Given the description of an element on the screen output the (x, y) to click on. 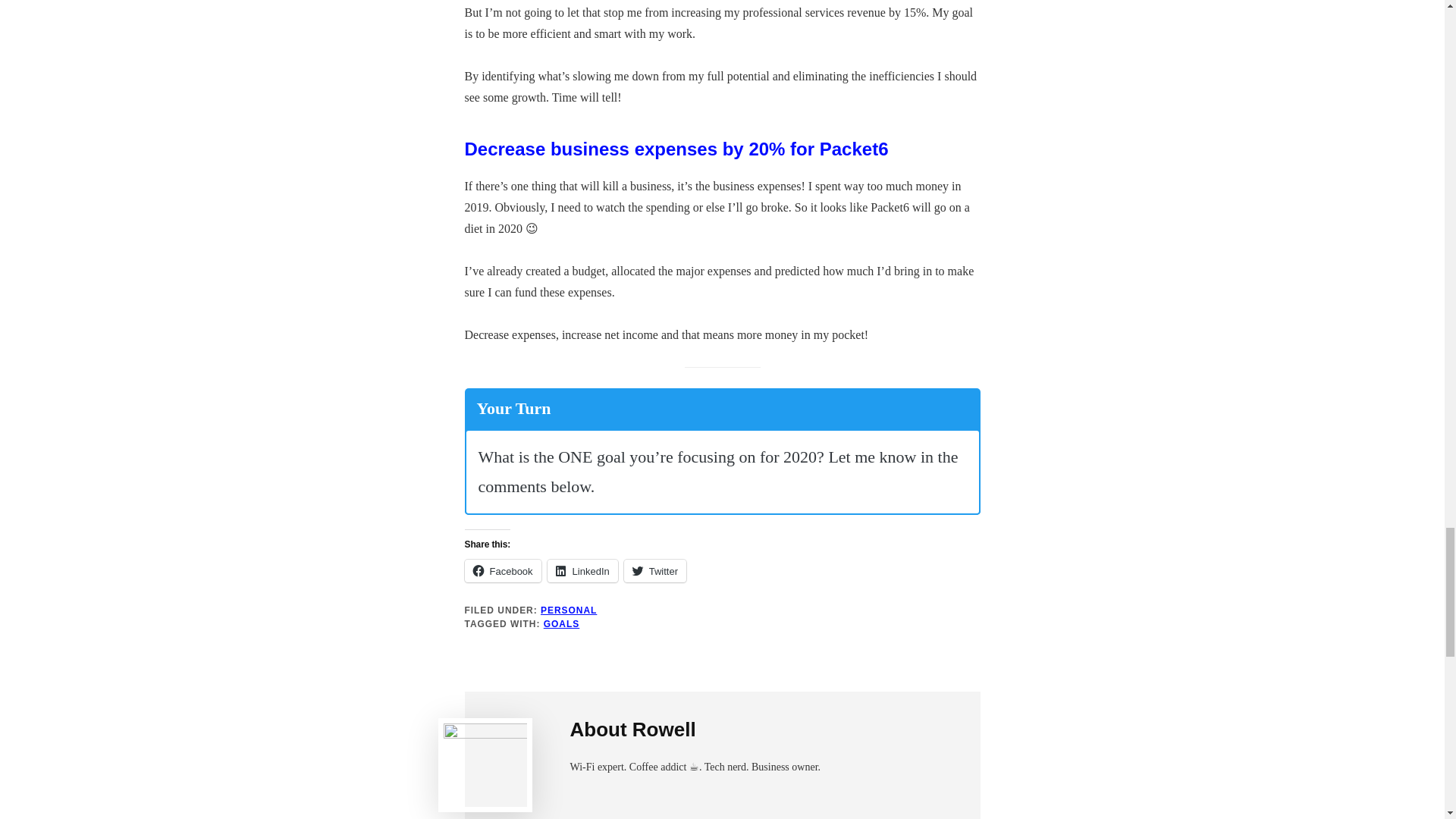
Click to share on Facebook (502, 570)
GOALS (561, 624)
LinkedIn (582, 570)
Facebook (502, 570)
Click to share on Twitter (654, 570)
PERSONAL (568, 610)
Click to share on LinkedIn (582, 570)
Twitter (654, 570)
